Given the description of an element on the screen output the (x, y) to click on. 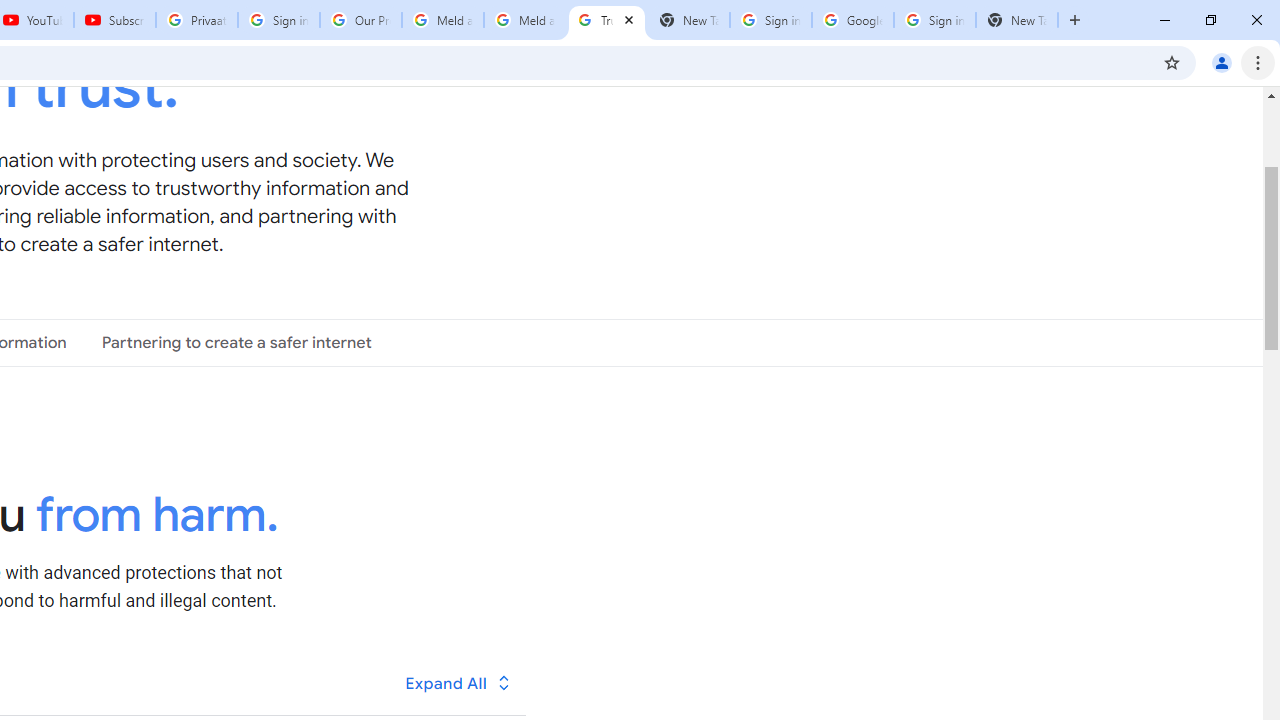
Expand All (459, 682)
Sign in - Google Accounts (770, 20)
